Given the description of an element on the screen output the (x, y) to click on. 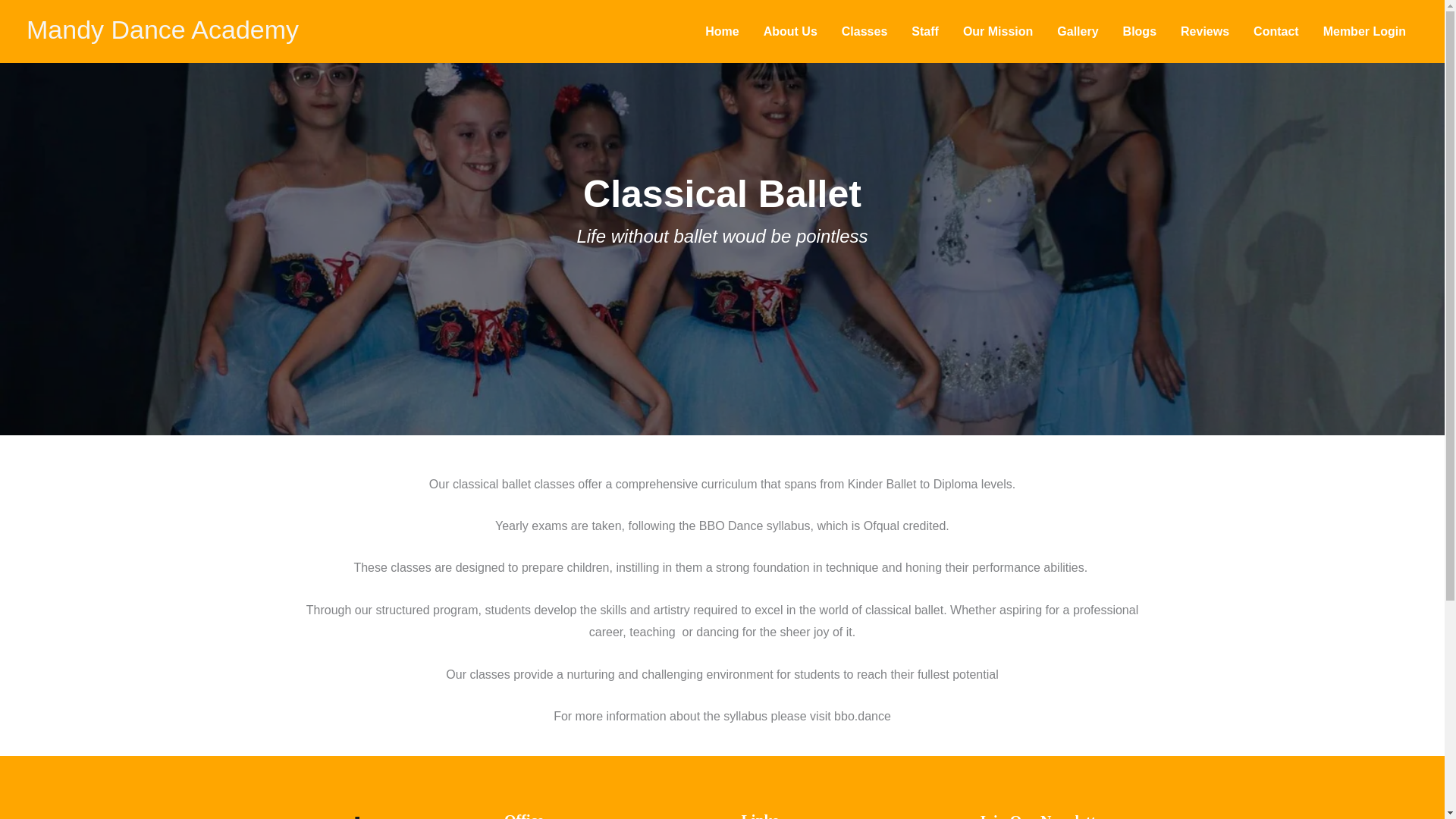
About Us (790, 30)
Classes (864, 30)
Staff (924, 30)
Blogs (1139, 30)
Member Login (1364, 30)
Home (722, 30)
Gallery (1077, 30)
Contact (1276, 30)
Reviews (1205, 30)
Our Mission (997, 30)
